Given the description of an element on the screen output the (x, y) to click on. 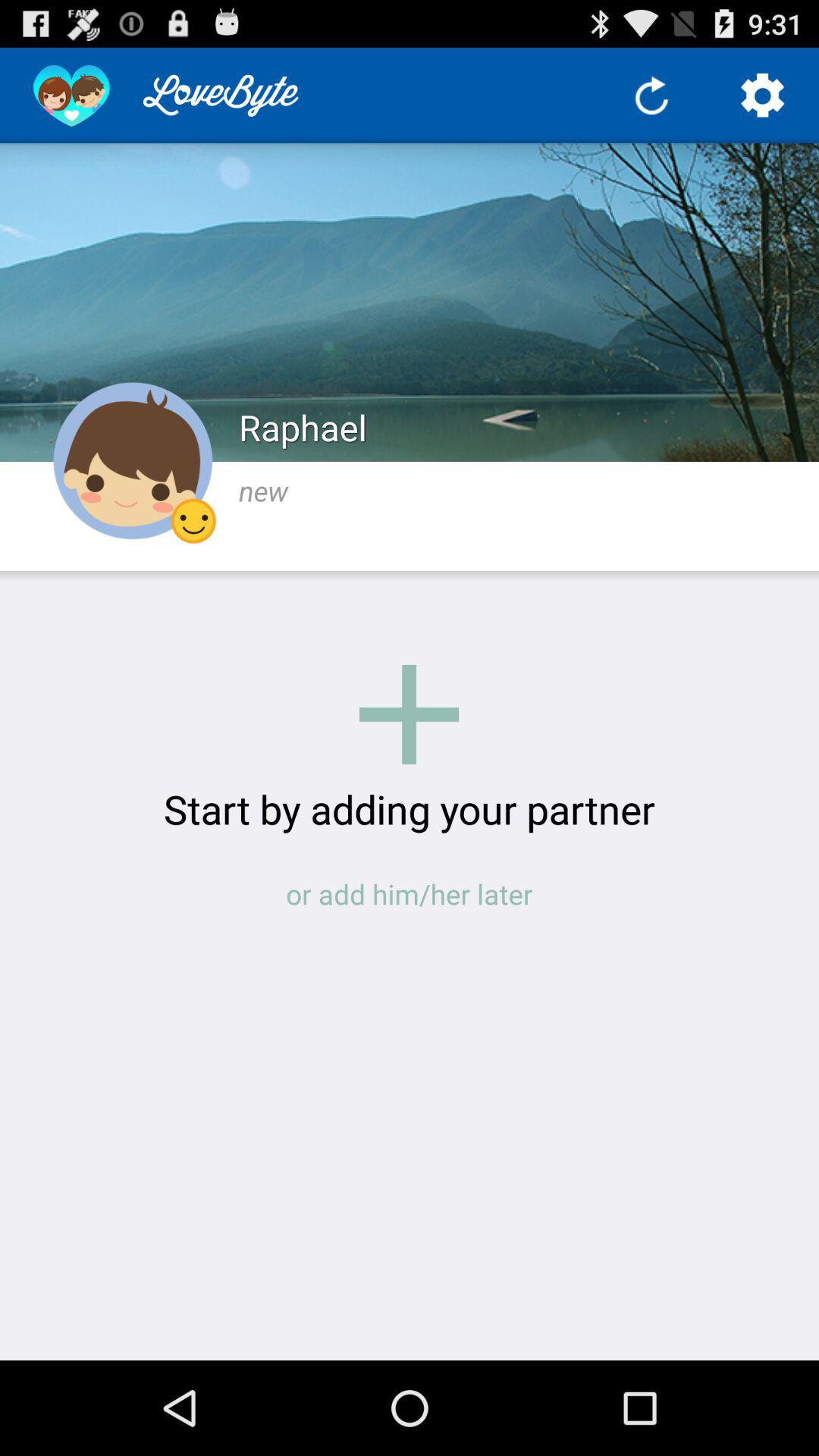
button to activate the menu (763, 95)
